Given the description of an element on the screen output the (x, y) to click on. 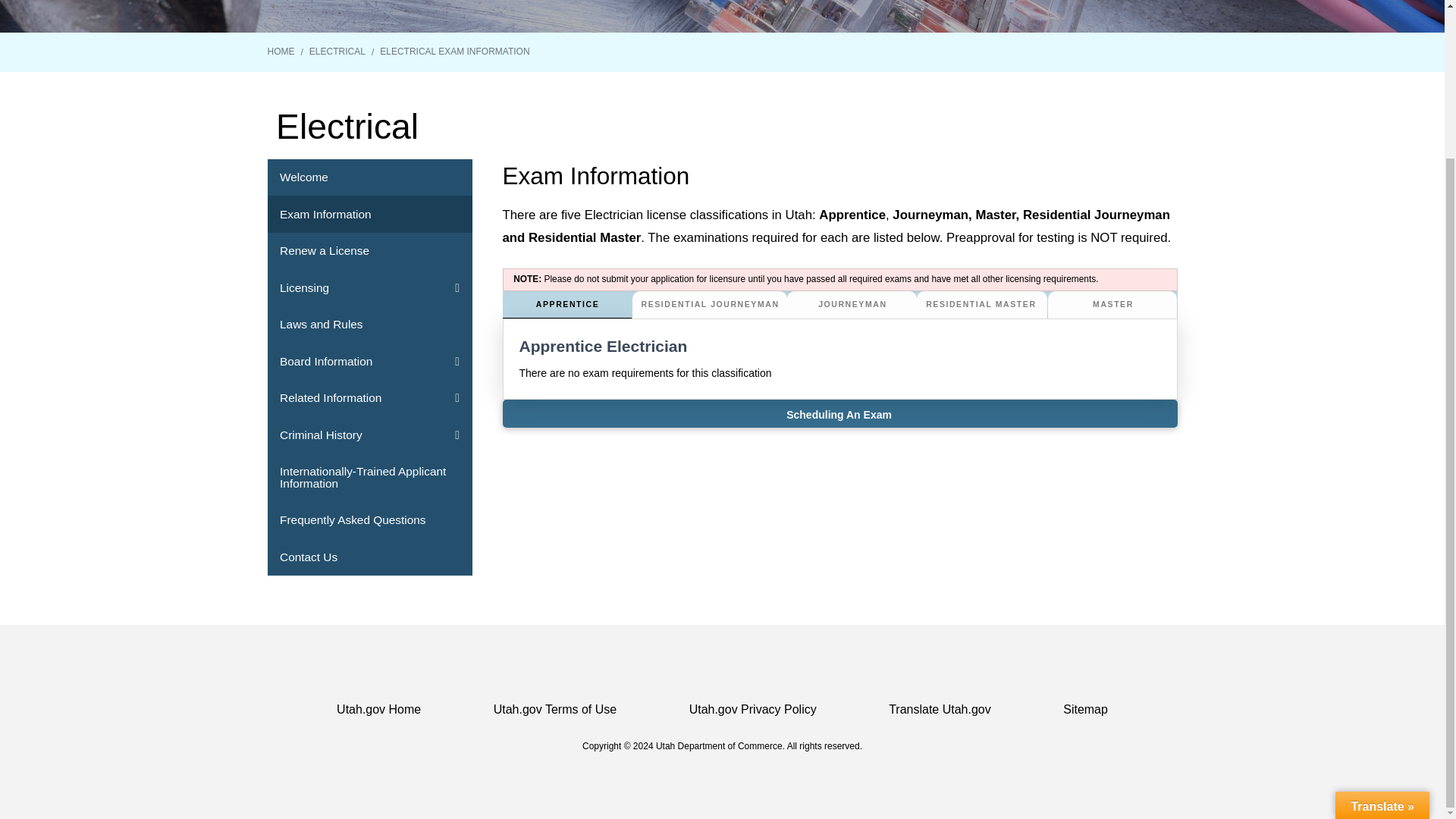
HOME (280, 51)
Renew a License (368, 251)
ELECTRICAL (336, 51)
ELECTRICAL EXAM INFORMATION (454, 51)
You Are Here (454, 51)
Welcome (368, 177)
Exam Information (368, 213)
